Given the description of an element on the screen output the (x, y) to click on. 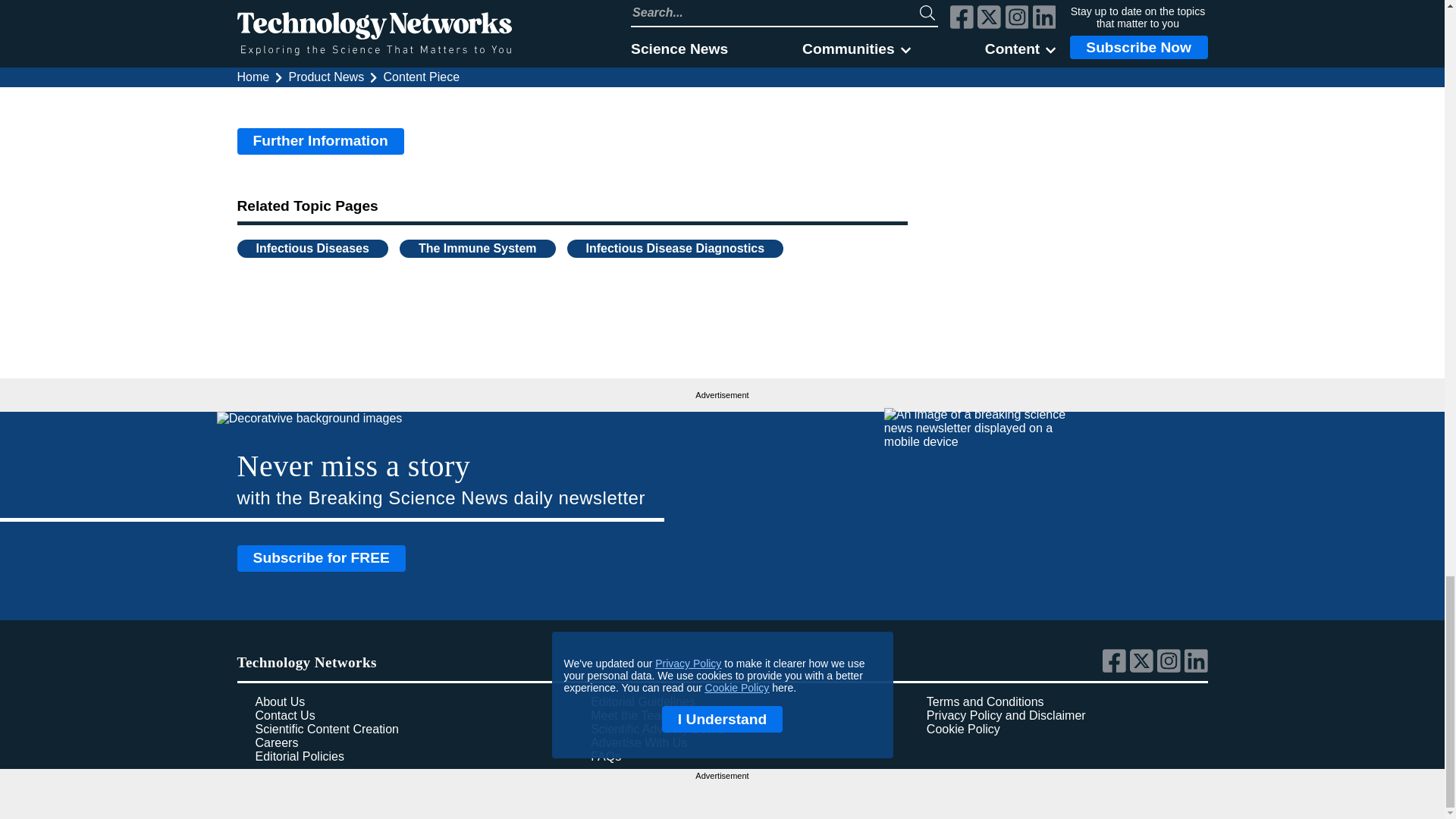
Link to Technology Networks' instagram page (1171, 668)
Link to Technology Networks' facebook page (1115, 668)
Link to Technology Networks' twitter page (1143, 668)
Link to Technology Networks' linkedin page (1196, 668)
